Given the description of an element on the screen output the (x, y) to click on. 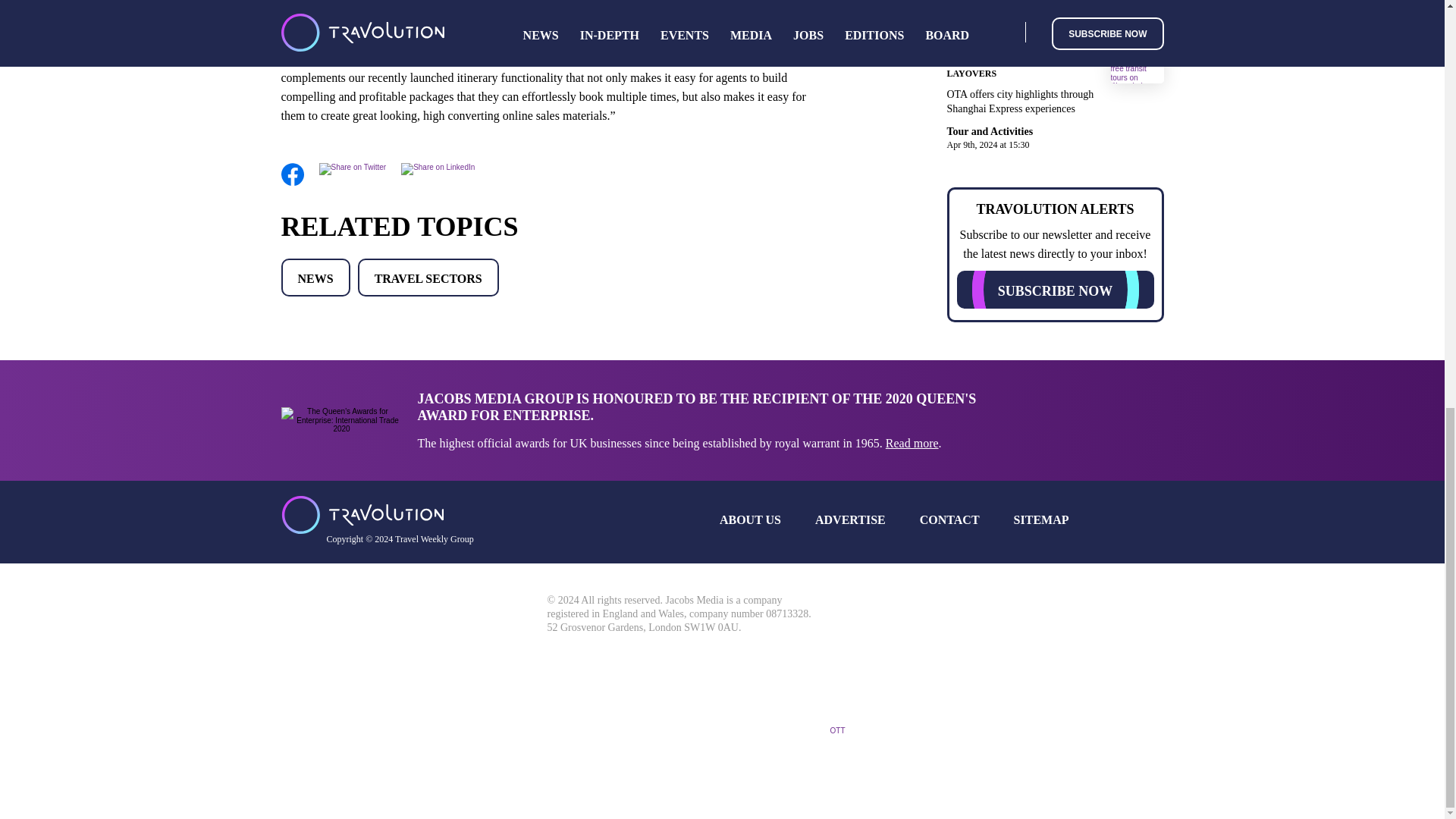
Share on LinkedIn (437, 166)
Share on Facebook (291, 183)
Share on Twitter (351, 166)
